Given the description of an element on the screen output the (x, y) to click on. 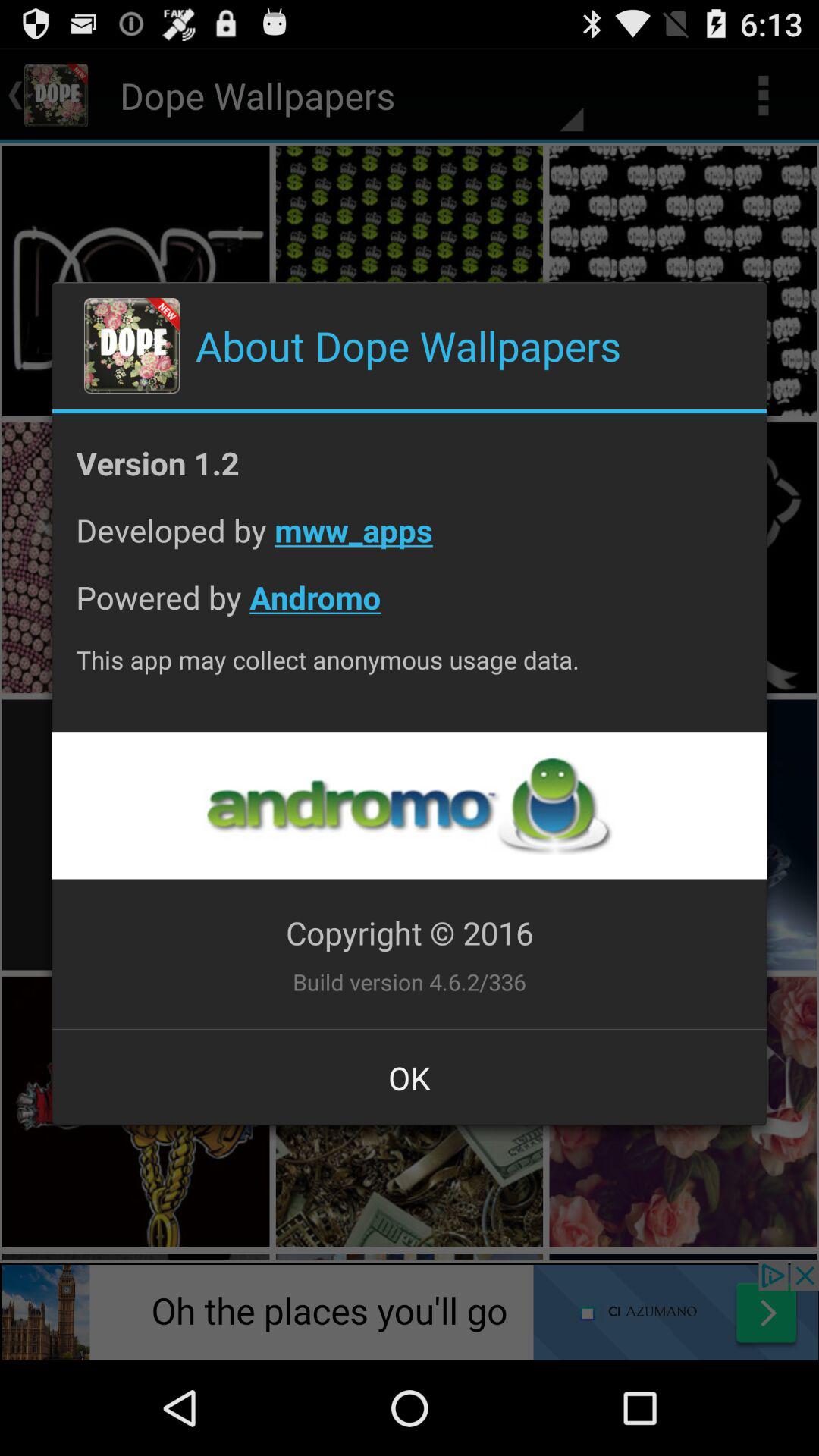
tap the powered by andromo item (409, 608)
